Given the description of an element on the screen output the (x, y) to click on. 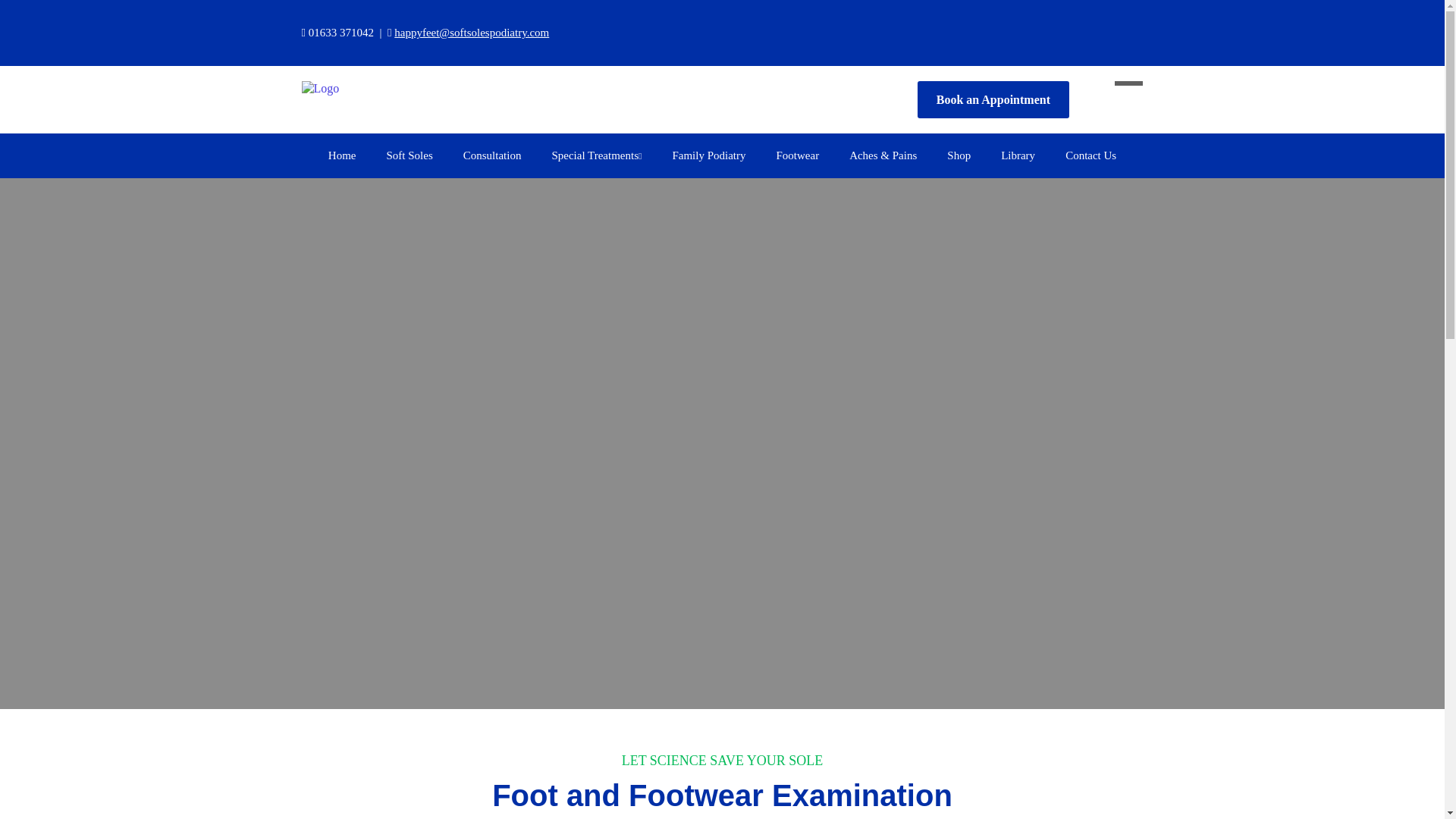
Footwear (797, 155)
Library (1017, 155)
Soft Soles (408, 155)
Book an Appointment (992, 99)
Special Treatments (595, 155)
Family Podiatry (708, 155)
Contact Us (1090, 155)
Shop (958, 155)
Consultation (492, 155)
Home (342, 155)
